Given the description of an element on the screen output the (x, y) to click on. 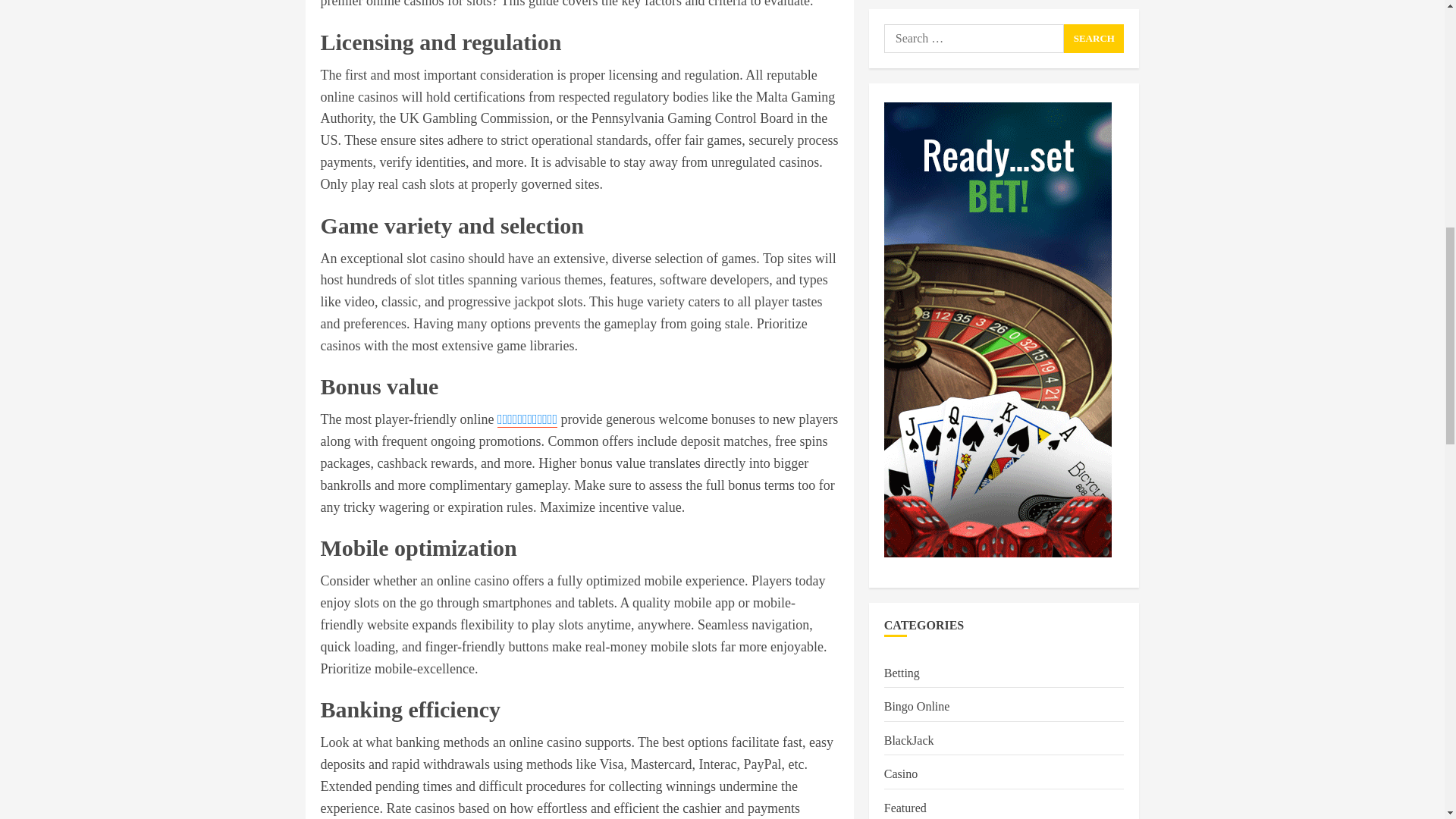
Featured (904, 254)
Bingo Online (916, 152)
BlackJack (908, 186)
Poker (897, 322)
Roulette (903, 355)
Games (900, 288)
Slots (895, 389)
Betting (901, 118)
Casino (900, 219)
